Given the description of an element on the screen output the (x, y) to click on. 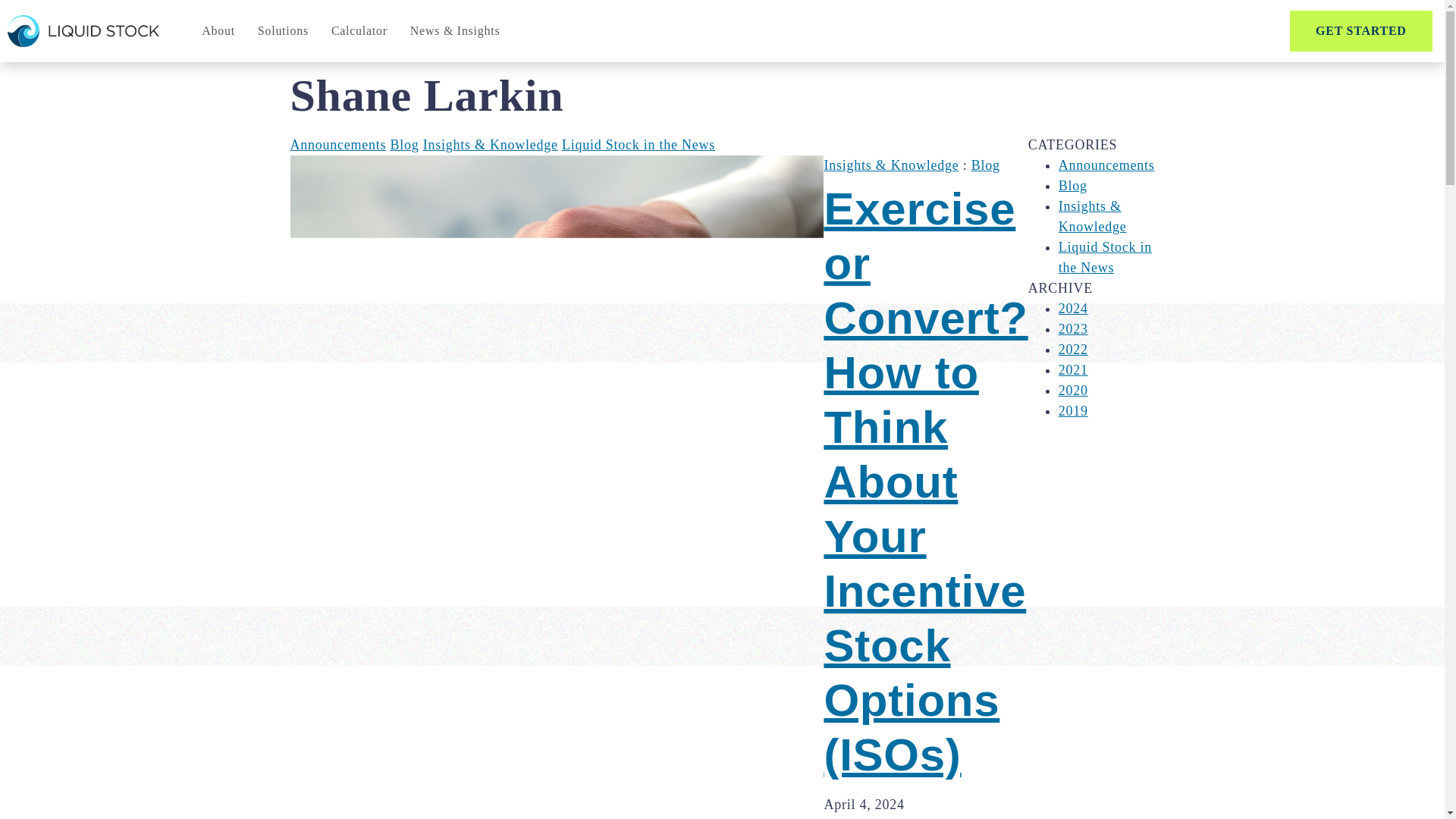
Blog (985, 165)
View all posts in Liquid Stock in the News (638, 144)
View all posts in Blog (404, 144)
Announcements (337, 144)
View all posts in Announcements (337, 144)
Solutions (283, 30)
Liquid Stock in the News (638, 144)
Calculator (359, 30)
Blog (404, 144)
GET STARTED (1361, 30)
About (218, 30)
